Given the description of an element on the screen output the (x, y) to click on. 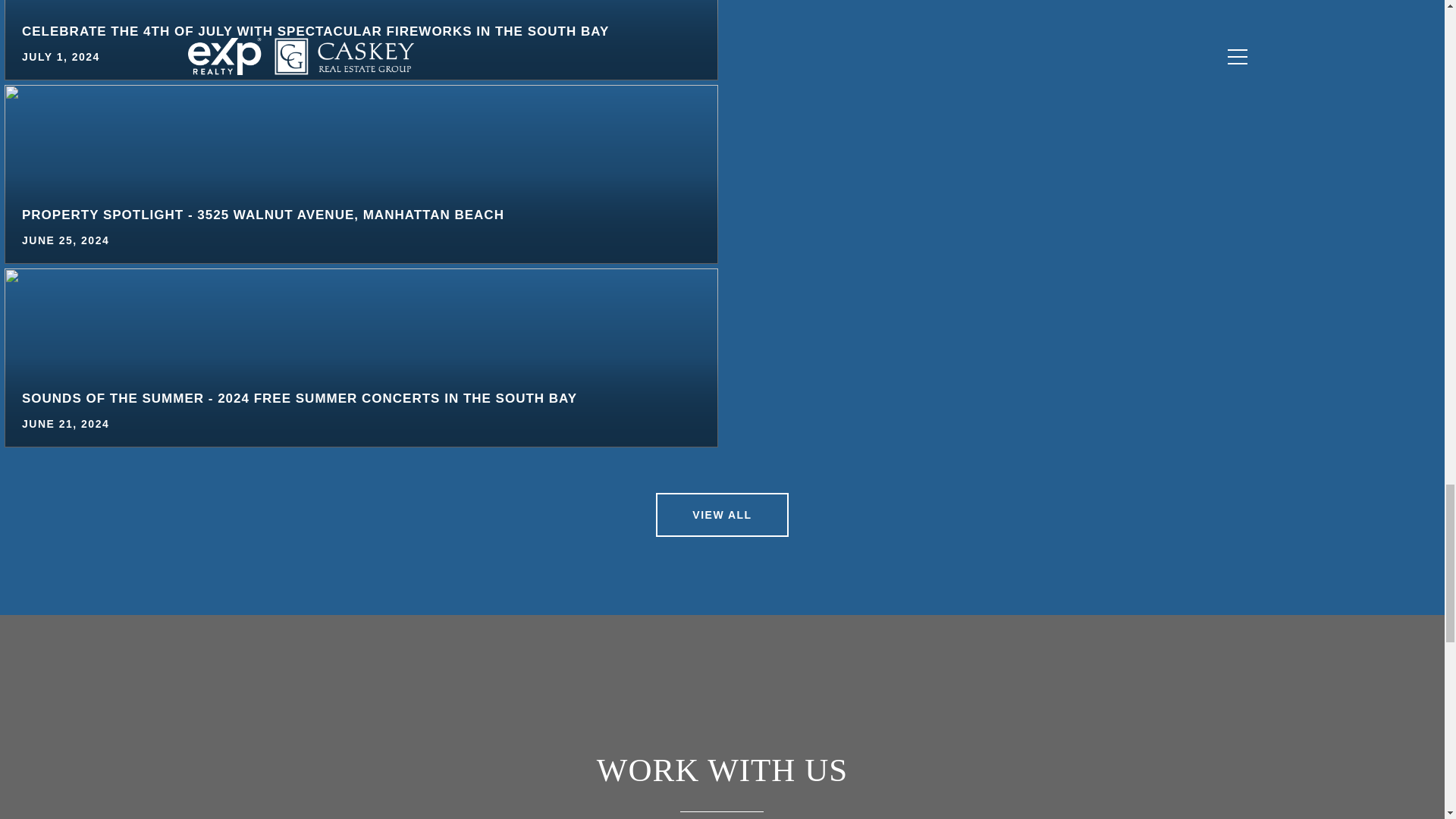
VIEW ALL (721, 515)
